Given the description of an element on the screen output the (x, y) to click on. 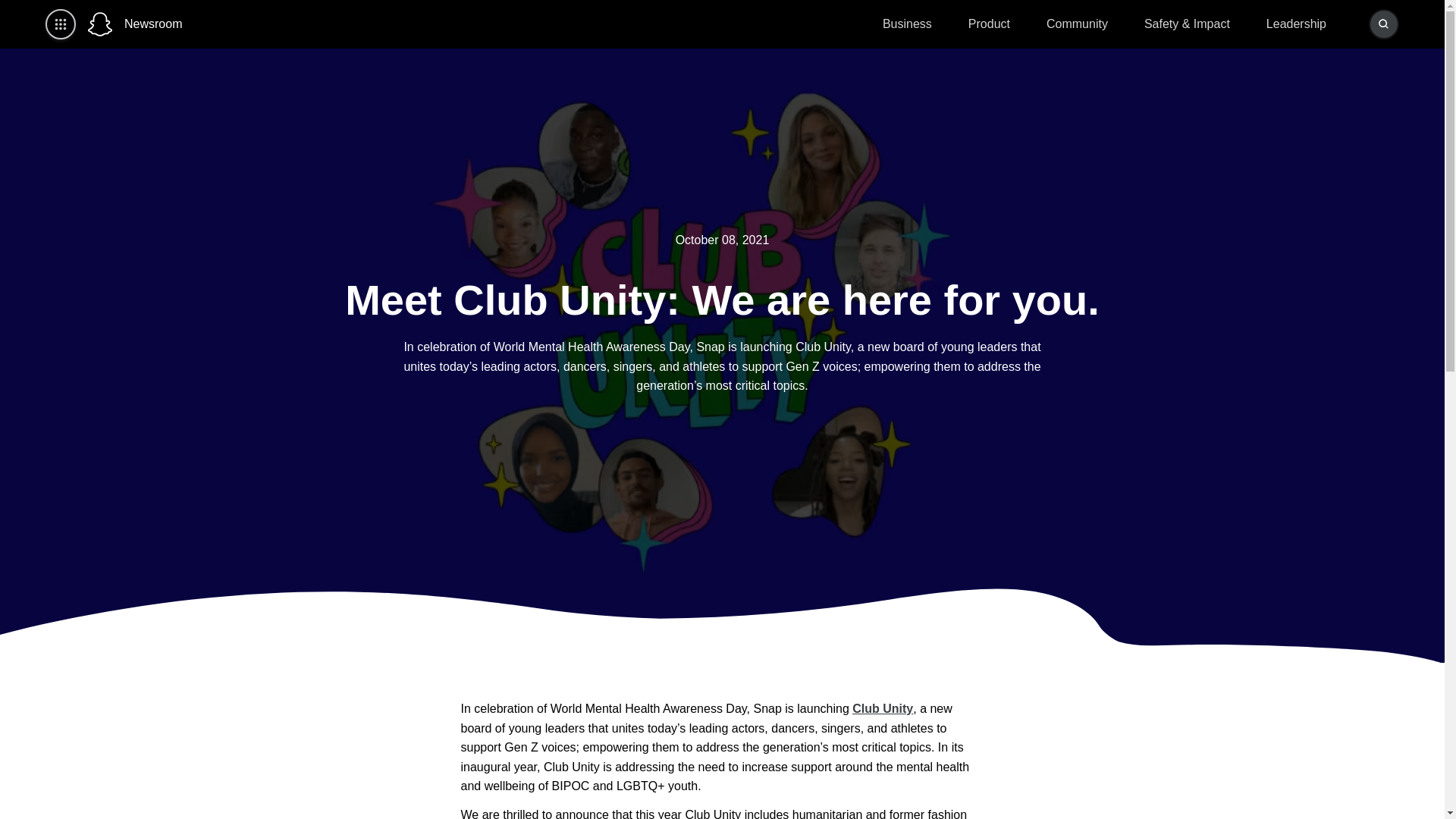
Leadership (1296, 24)
Club Unity (881, 707)
Newsroom (152, 24)
Business (906, 24)
Product (989, 24)
Community (1077, 24)
